Given the description of an element on the screen output the (x, y) to click on. 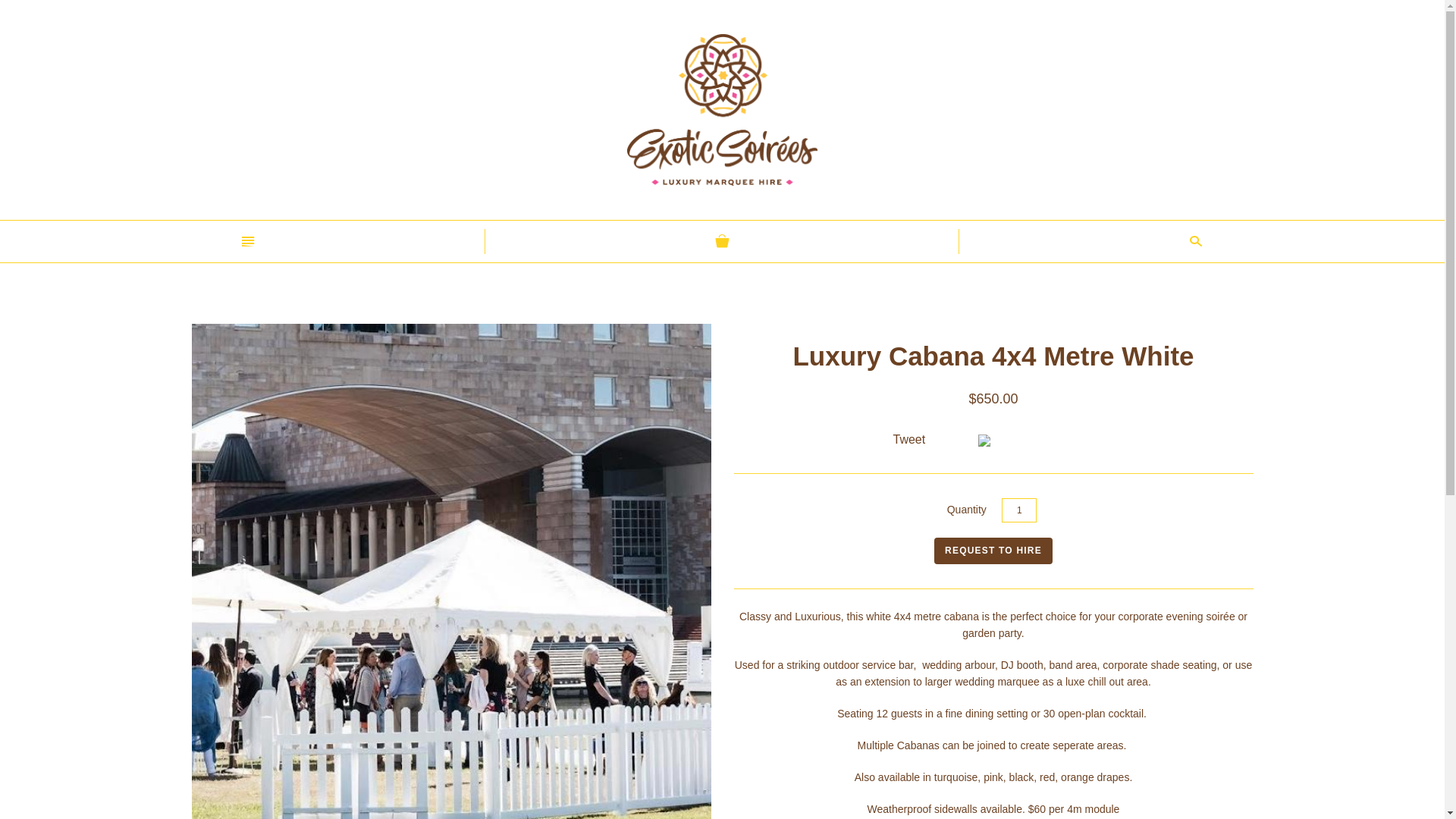
REQUEST TO HIRE Element type: text (993, 550)
Tweet Element type: text (909, 439)
